Given the description of an element on the screen output the (x, y) to click on. 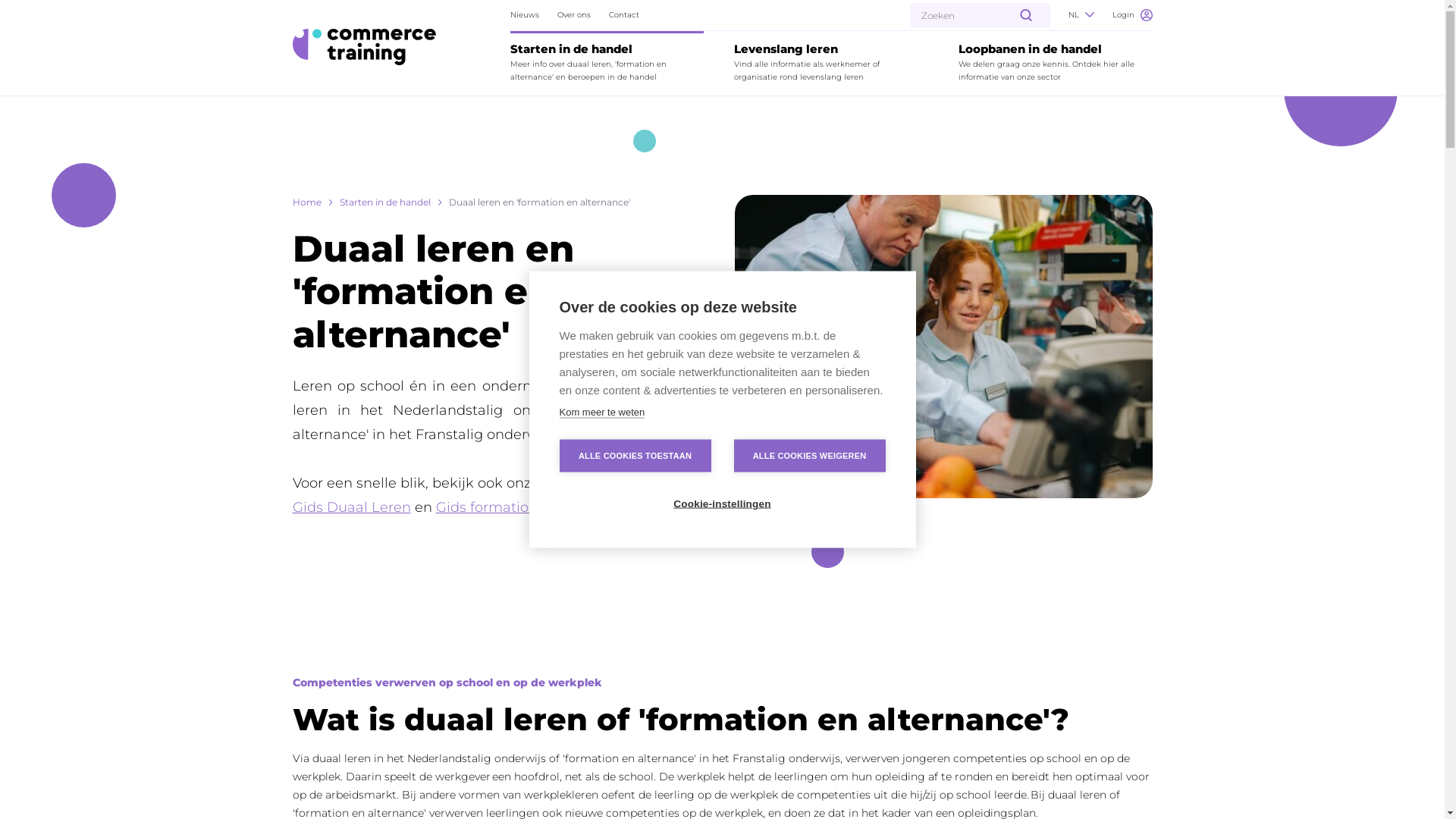
Search Element type: text (39, 16)
Login Element type: text (1131, 15)
Cookie-instellingen Element type: text (721, 502)
ALLE COOKIES TOESTAAN Element type: text (635, 455)
Kom meer te weten Element type: text (602, 412)
Contact Element type: text (623, 15)
ALLE COOKIES WEIGEREN Element type: text (809, 455)
Duaal leren en 'formation en alternance' Element type: text (539, 201)
Home Element type: text (306, 201)
Over ons Element type: text (573, 15)
Gids Duaal Leren Element type: text (351, 506)
Make it fly Element type: text (364, 46)
Nieuws Element type: text (524, 15)
Skip to main content Element type: text (16, 9)
Starten in de handel Element type: text (384, 201)
Gids formation en Alternance Element type: text (536, 506)
NL Element type: text (1080, 15)
